Given the description of an element on the screen output the (x, y) to click on. 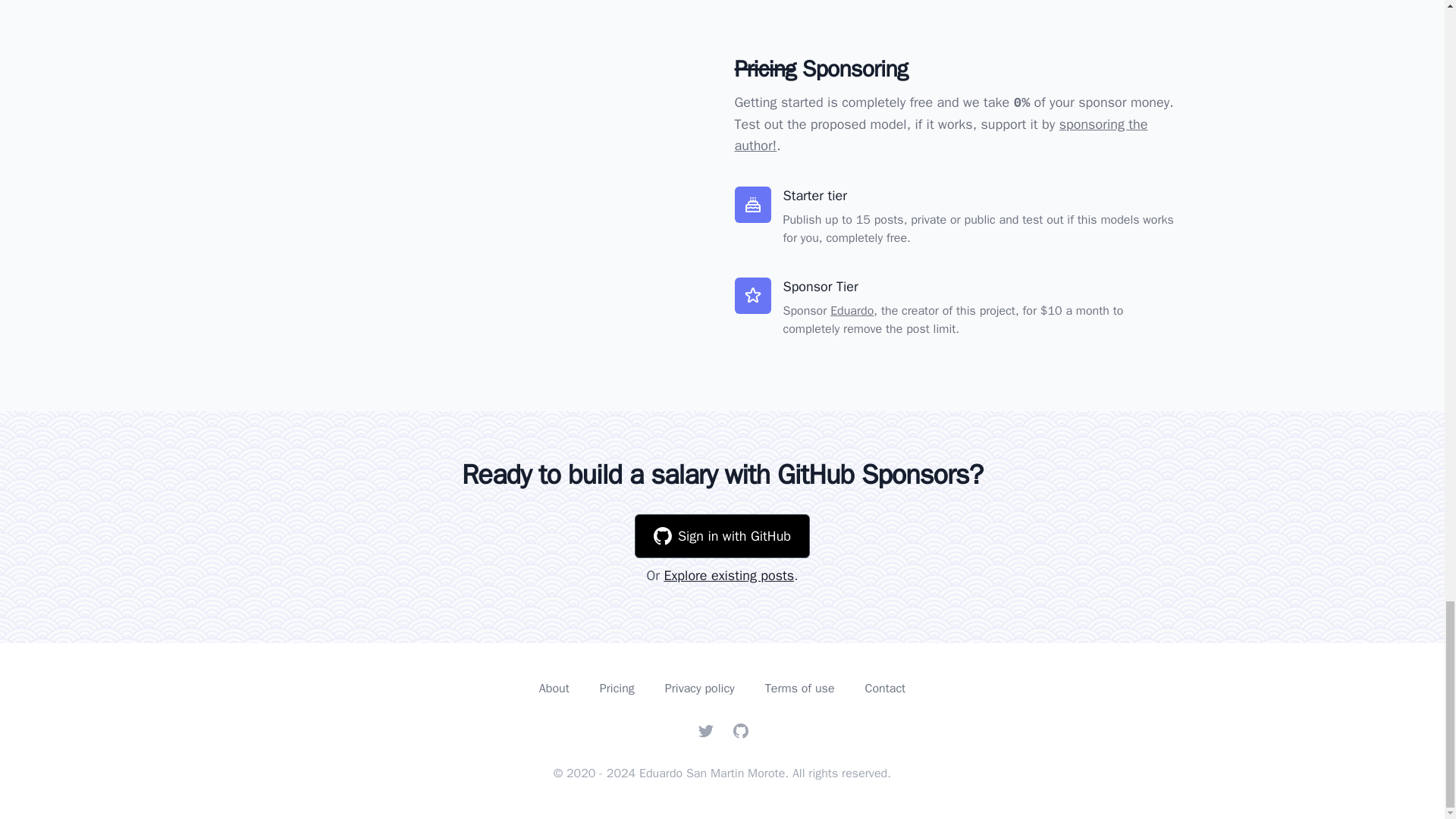
About (553, 687)
Contact (884, 687)
GitHub (740, 729)
Terms of use (799, 687)
Privacy policy (700, 687)
Explore existing posts (728, 575)
Sign in with GitHub (721, 535)
Twitter (704, 730)
Pricing (616, 687)
sponsoring the author! (940, 134)
Eduardo (851, 310)
